Given the description of an element on the screen output the (x, y) to click on. 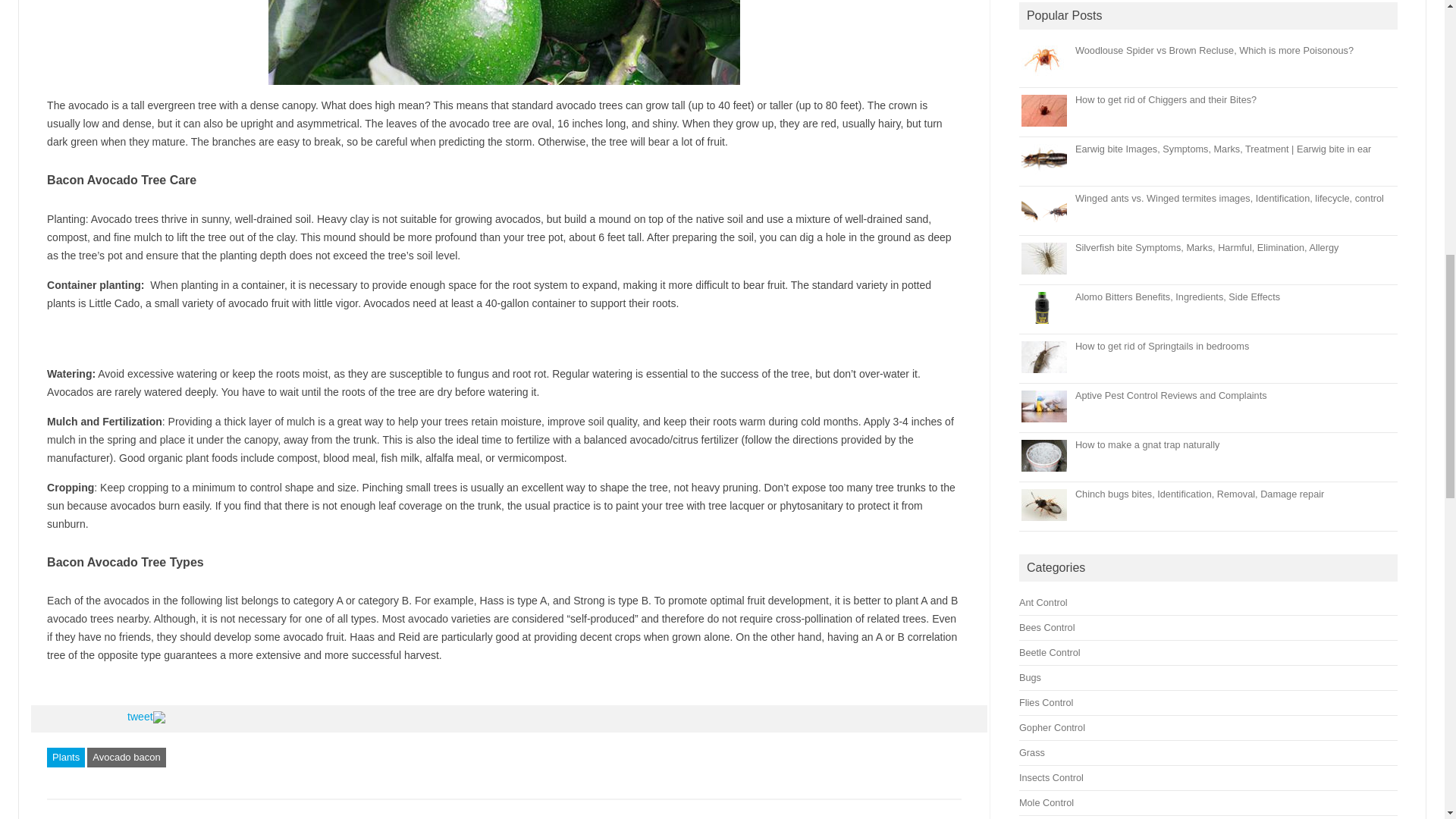
Plants (65, 757)
Avocado bacon (126, 757)
tweet (140, 716)
